Given the description of an element on the screen output the (x, y) to click on. 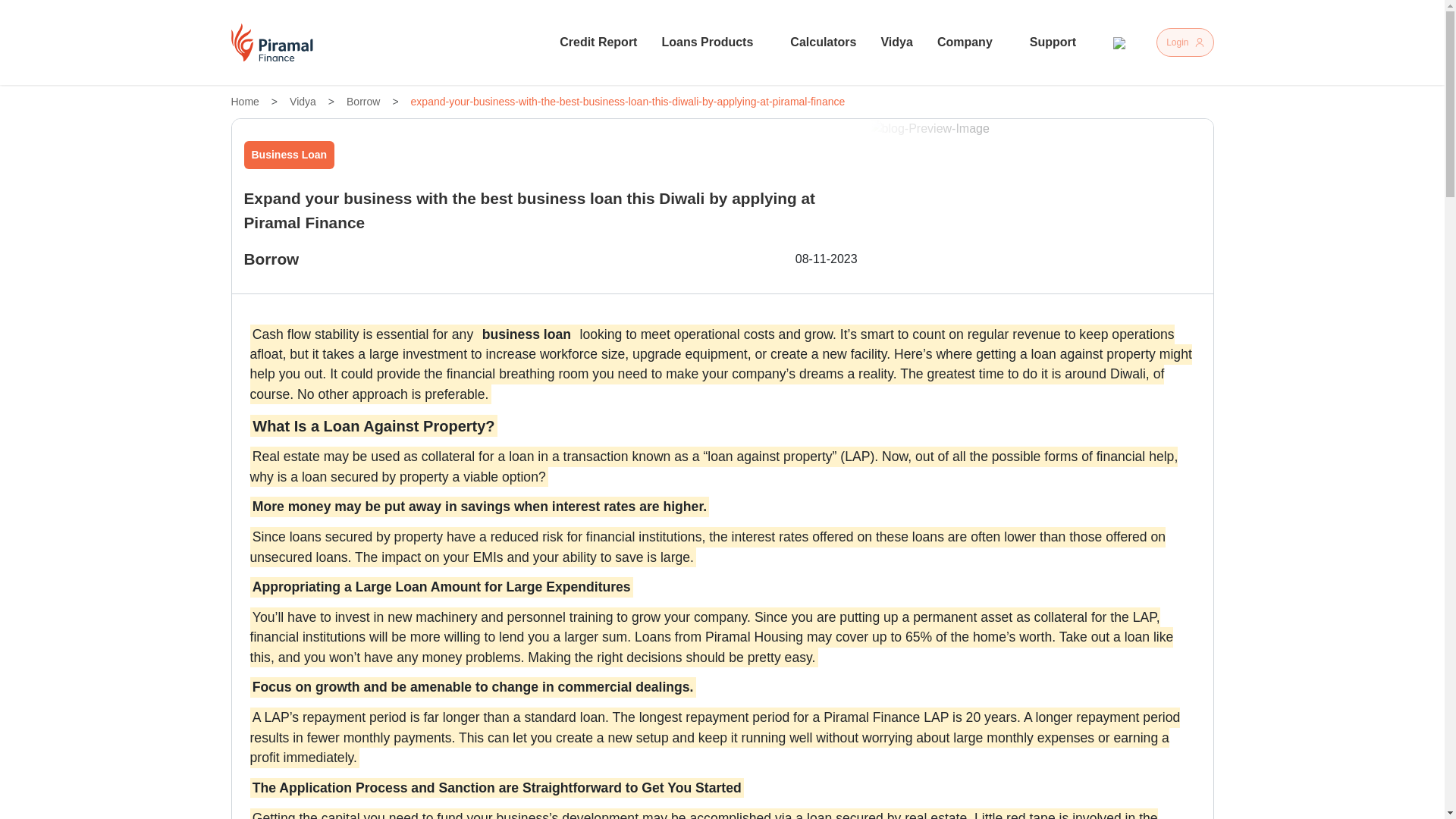
Company (971, 42)
Calculators (822, 42)
Credit Report (598, 42)
Loans Products (713, 42)
Vidya (896, 42)
Support (1058, 42)
